Given the description of an element on the screen output the (x, y) to click on. 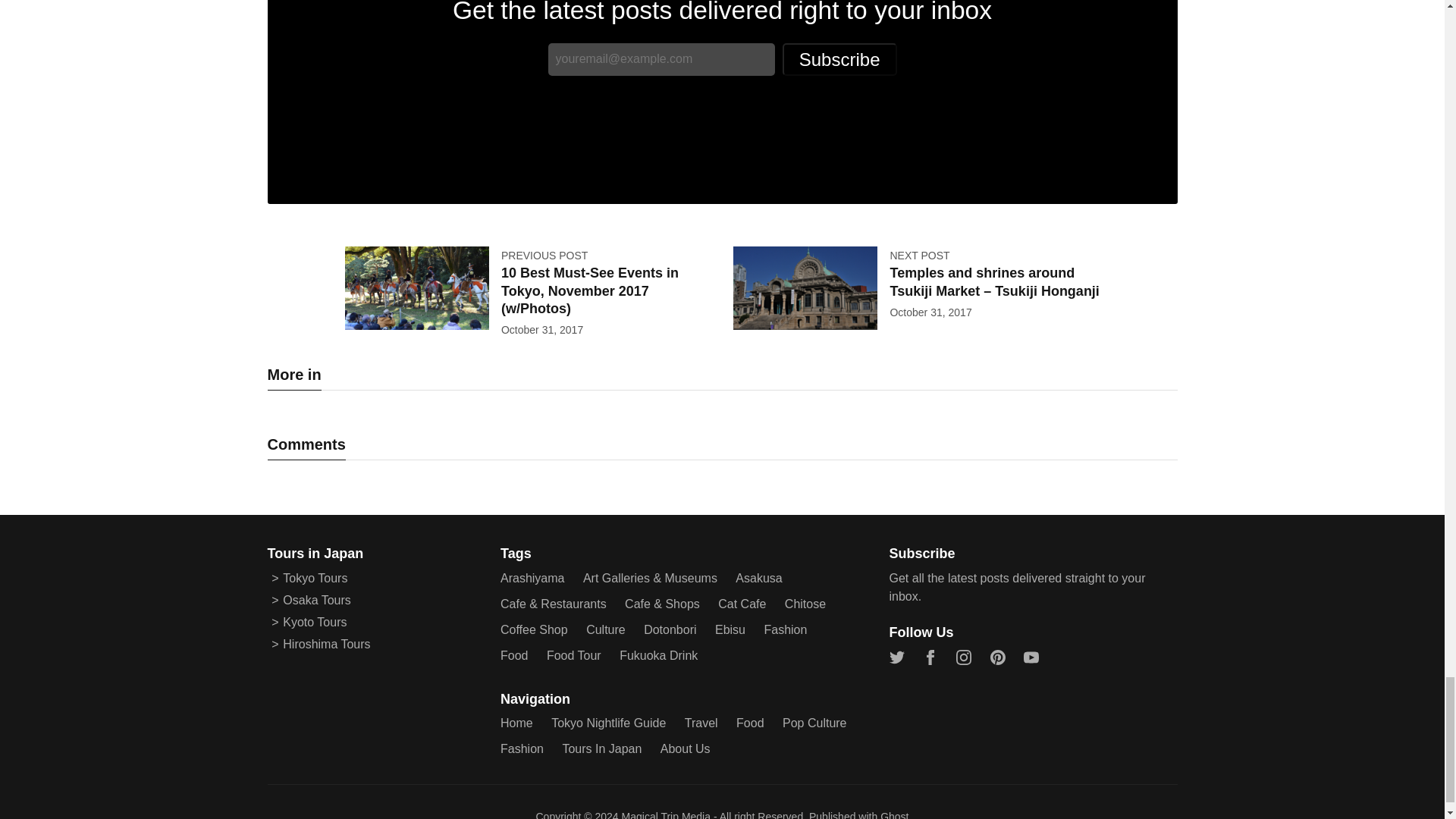
31 October, 2017 (541, 329)
PREVIOUS POST (544, 255)
NEXT POST (919, 255)
Subscribe (839, 59)
31 October, 2017 (930, 312)
